Given the description of an element on the screen output the (x, y) to click on. 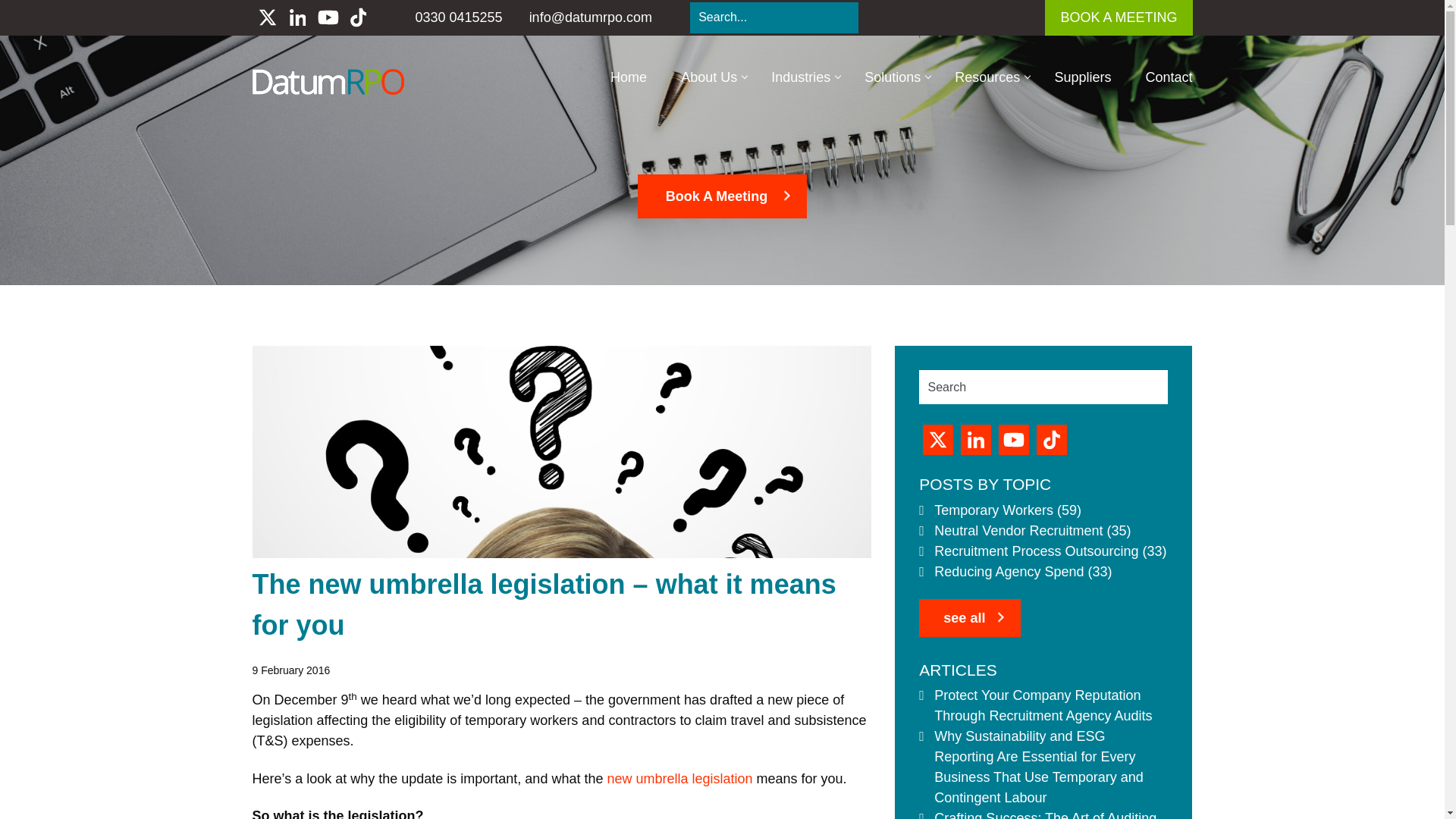
BOOK A MEETING (1118, 18)
Contact (1168, 77)
Book A Meeting (722, 196)
Resources (987, 77)
Solutions (892, 77)
Industries (800, 77)
new umbrella legislation (679, 778)
Home (628, 77)
About Us (708, 77)
Suppliers (1082, 77)
